Given the description of an element on the screen output the (x, y) to click on. 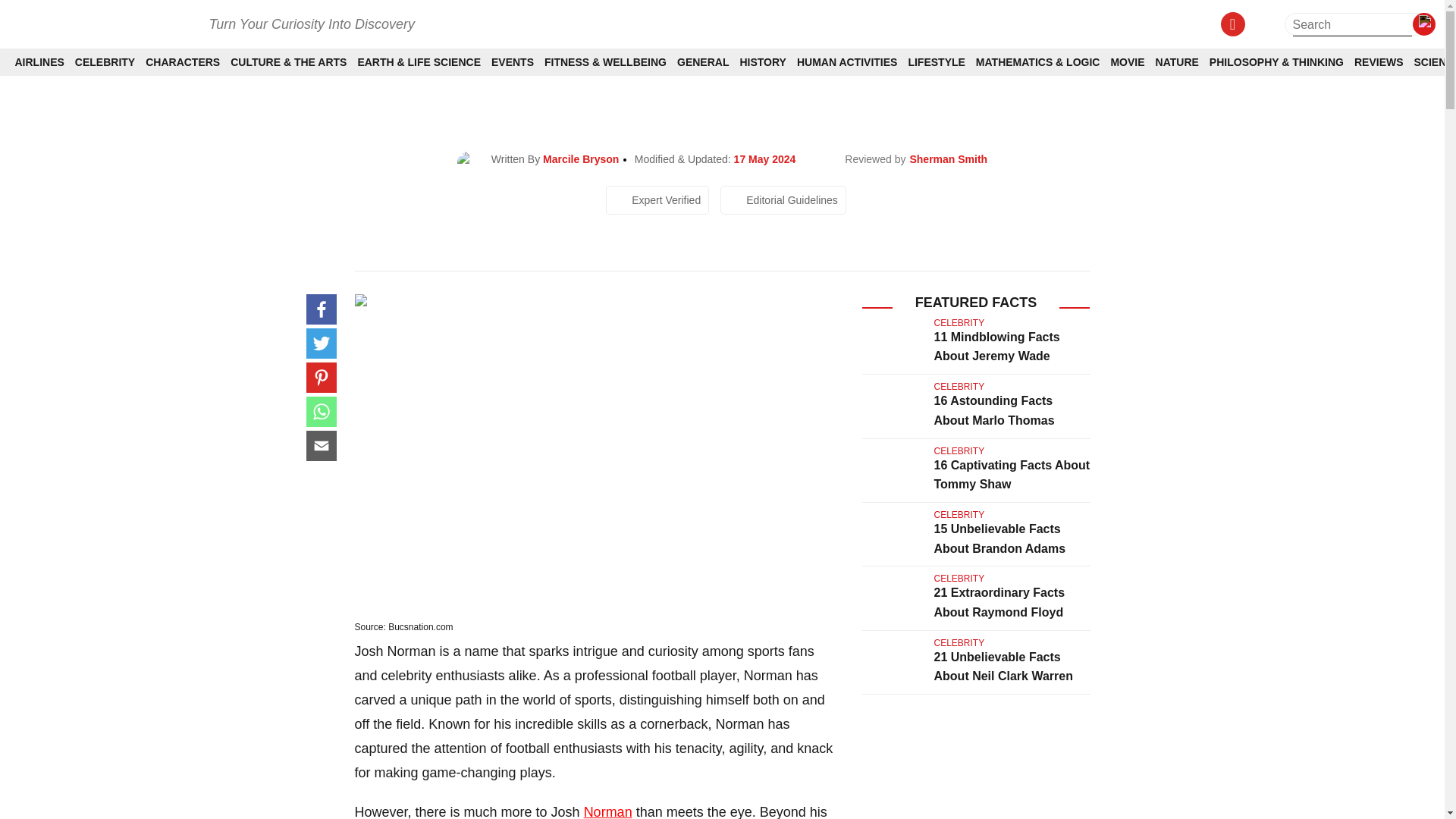
CHARACTERS (182, 62)
Facts.net (100, 23)
CELEBRITY (105, 62)
AIRLINES (39, 62)
HUMAN ACTIVITIES (846, 62)
Norman (607, 811)
HISTORY (762, 62)
GENERAL (703, 62)
EVENTS (513, 62)
LIFESTYLE (935, 62)
